Given the description of an element on the screen output the (x, y) to click on. 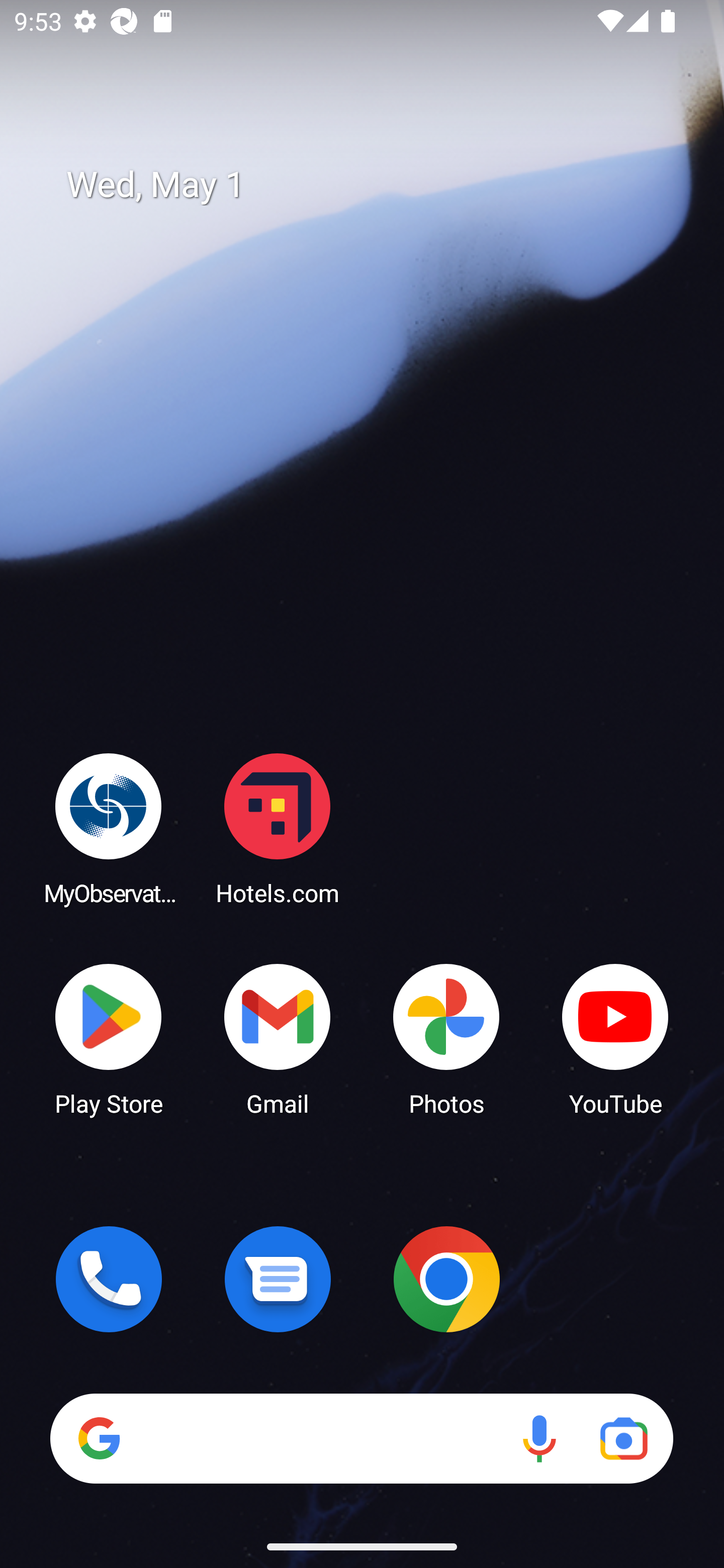
Wed, May 1 (375, 184)
MyObservatory (108, 828)
Hotels.com (277, 828)
Play Store (108, 1038)
Gmail (277, 1038)
Photos (445, 1038)
YouTube (615, 1038)
Phone (108, 1279)
Messages (277, 1279)
Chrome (446, 1279)
Search Voice search Google Lens (361, 1438)
Voice search (539, 1438)
Google Lens (623, 1438)
